Given the description of an element on the screen output the (x, y) to click on. 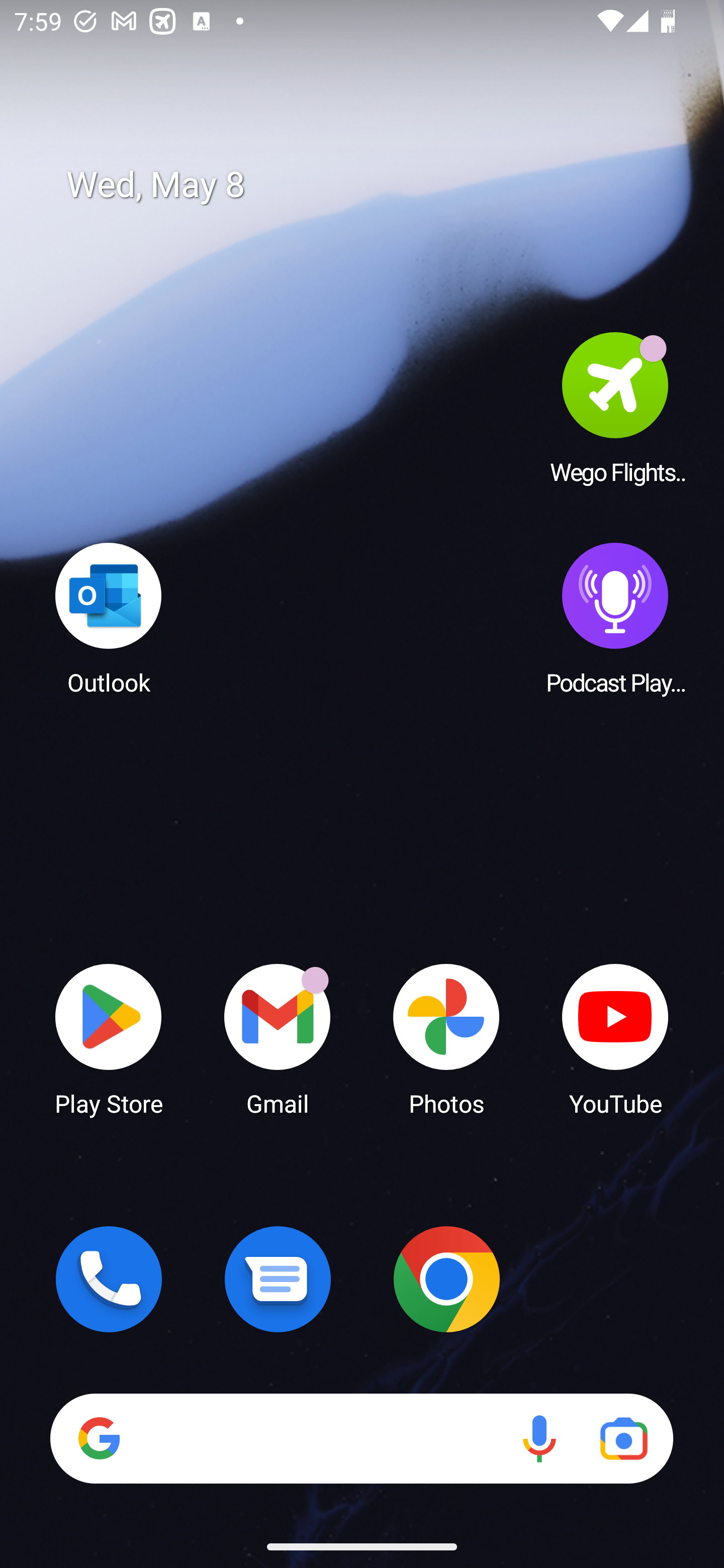
Wed, May 8 (375, 184)
Outlook (108, 617)
Podcast Player (615, 617)
Play Store (108, 1038)
Gmail Gmail has 17 notifications (277, 1038)
Photos (445, 1038)
YouTube (615, 1038)
Phone (108, 1279)
Messages (277, 1279)
Chrome (446, 1279)
Voice search (539, 1438)
Google Lens (623, 1438)
